Given the description of an element on the screen output the (x, y) to click on. 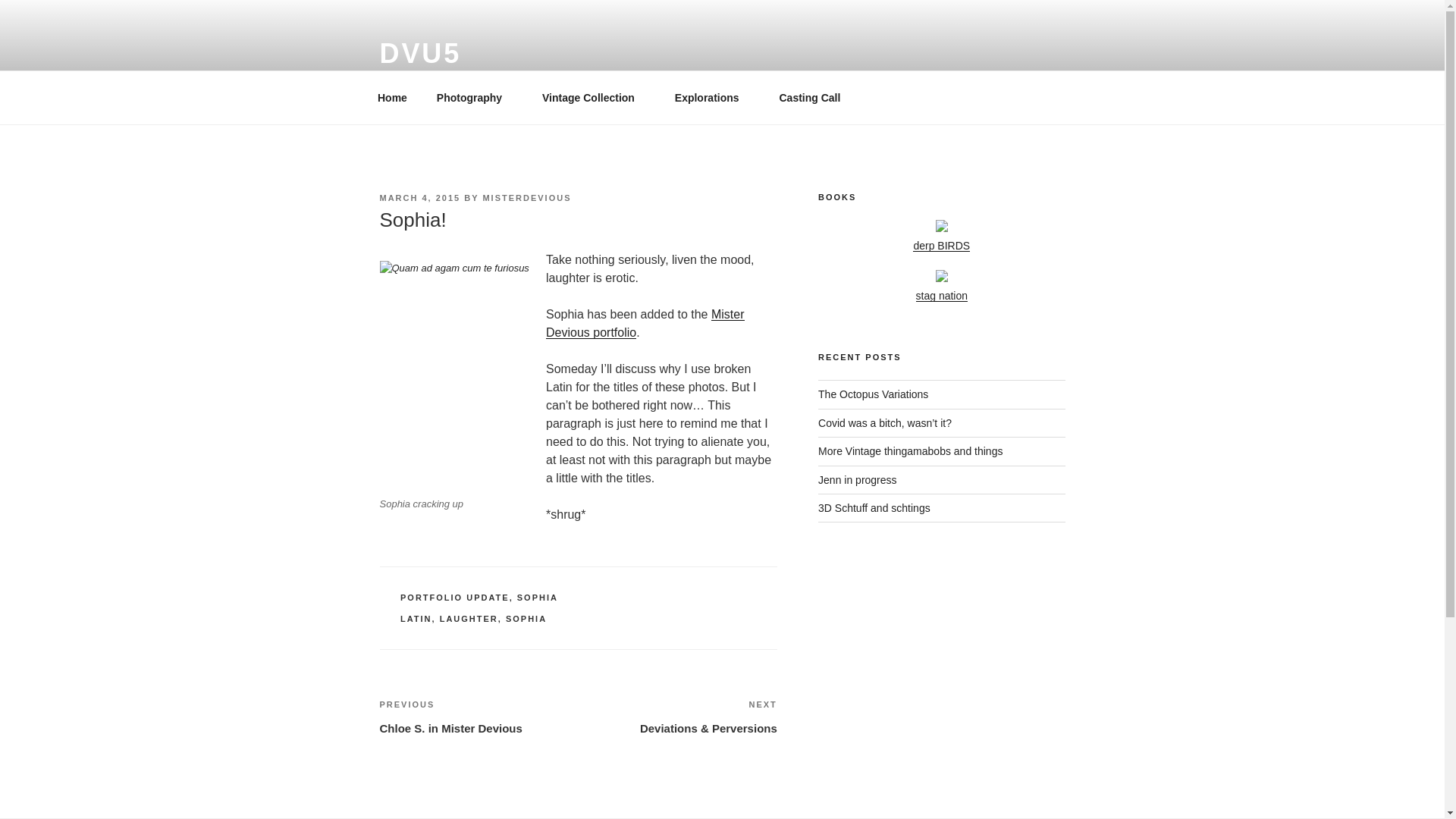
Mister Devious (645, 323)
Casting Call (809, 97)
Mister Devious portfolio (645, 323)
Home (392, 97)
Photography (474, 97)
Vintage Collection (594, 97)
MARCH 4, 2015 (419, 197)
DVU5 (419, 52)
Explorations (711, 97)
PORTFOLIO UPDATE (454, 596)
MISTERDEVIOUS (525, 197)
